Given the description of an element on the screen output the (x, y) to click on. 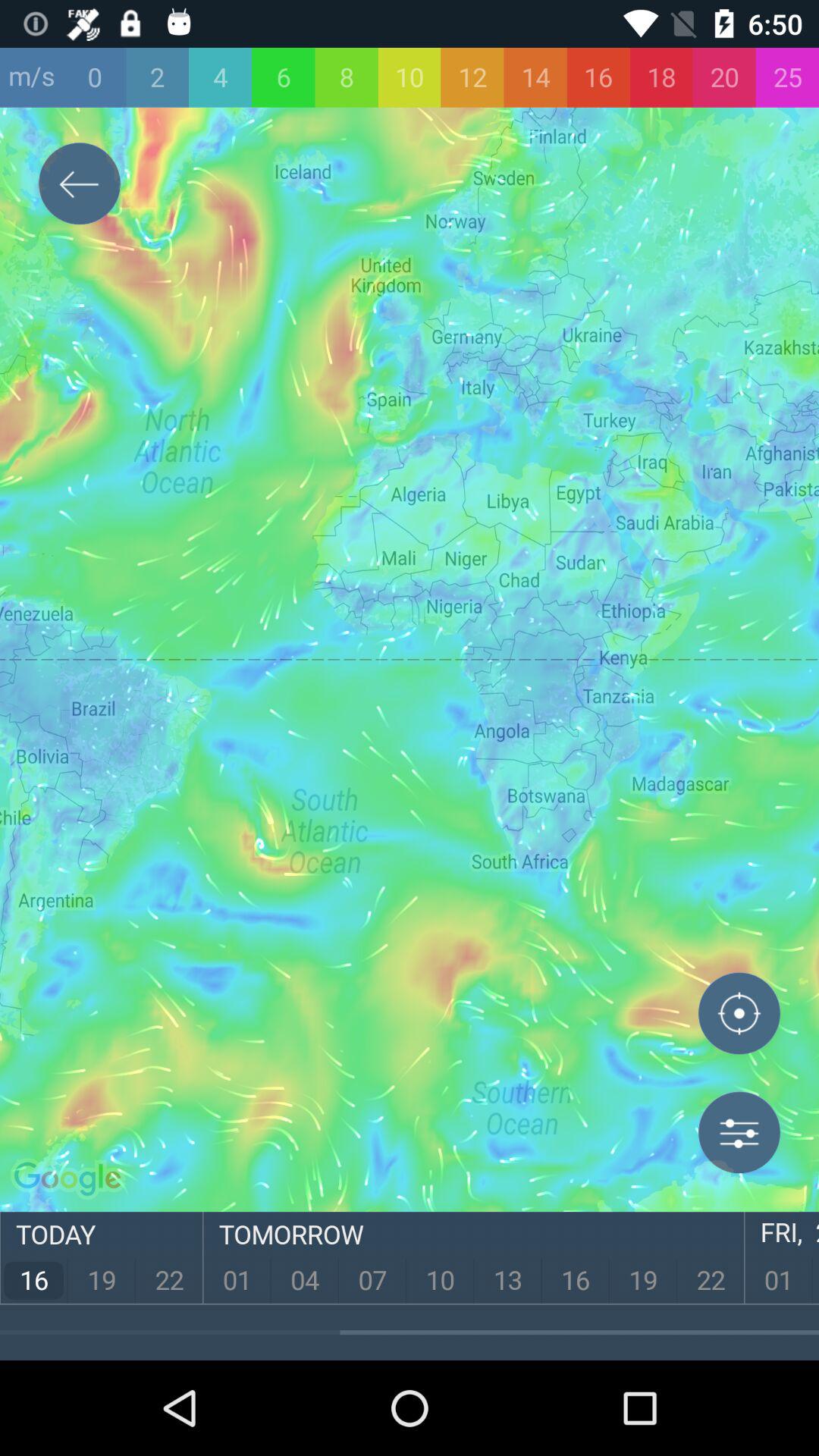
location option (739, 1016)
